Given the description of an element on the screen output the (x, y) to click on. 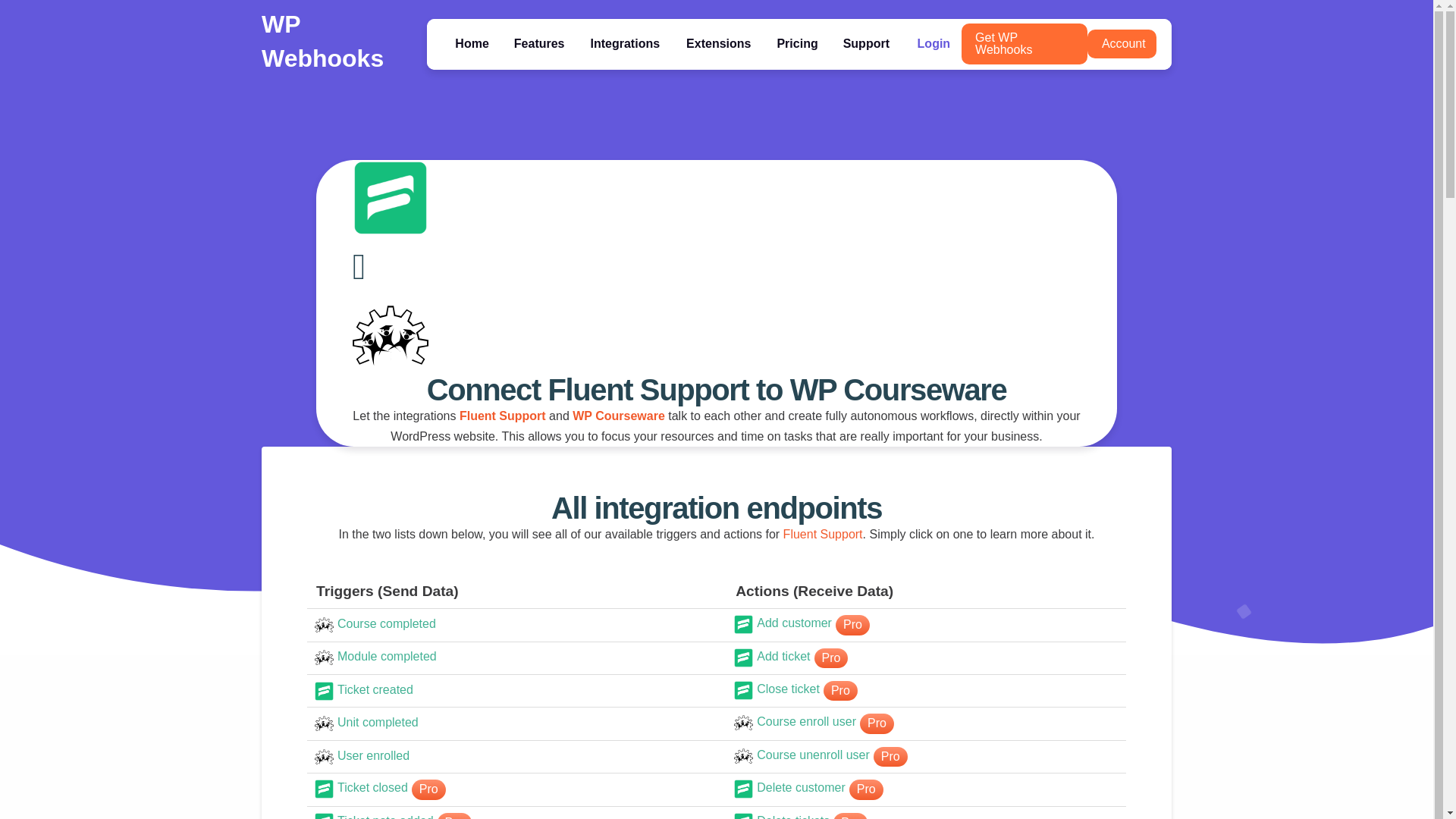
Visit our Fluent Support integration (503, 415)
Visit the Ticket created trigger (516, 691)
WP Webhooks (323, 41)
Course completed (516, 624)
Visit the Add customer action (925, 624)
Pricing (795, 43)
Fluent Support (503, 415)
Visit the Ticket closed trigger (516, 789)
Visit the Add ticket action (925, 690)
Ticket created (925, 658)
Visit the Course completed trigger (516, 691)
Module completed (516, 624)
Home (516, 657)
Visit the Unit completed trigger (471, 43)
